Given the description of an element on the screen output the (x, y) to click on. 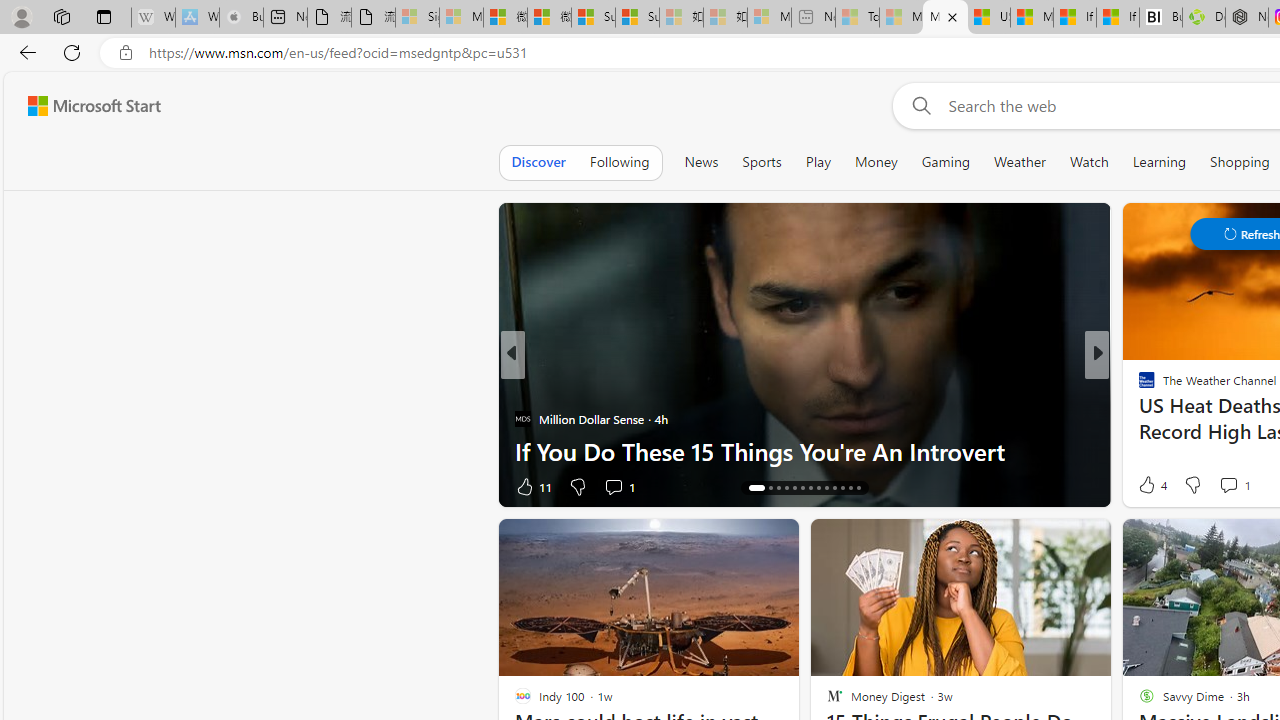
MSNBC (1138, 386)
Nordace - Nordace Edin Collection (1247, 17)
AutomationID: tab-21 (818, 487)
AutomationID: tab-14 (756, 487)
View comments 339 Comment (1234, 485)
Futurism (1138, 386)
View comments 3 Comment (1234, 485)
